Given the description of an element on the screen output the (x, y) to click on. 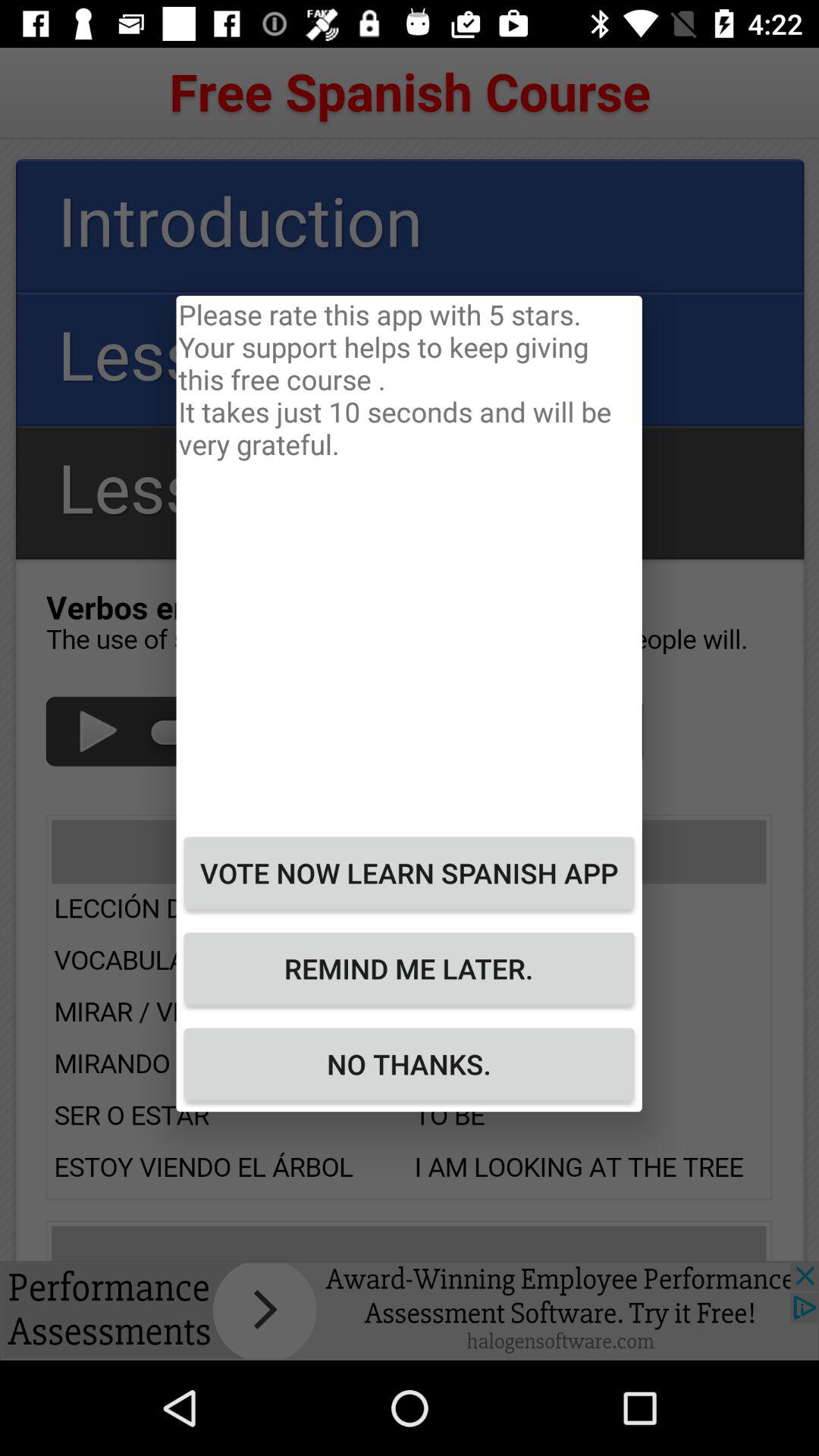
press icon above the remind me later. item (409, 872)
